Given the description of an element on the screen output the (x, y) to click on. 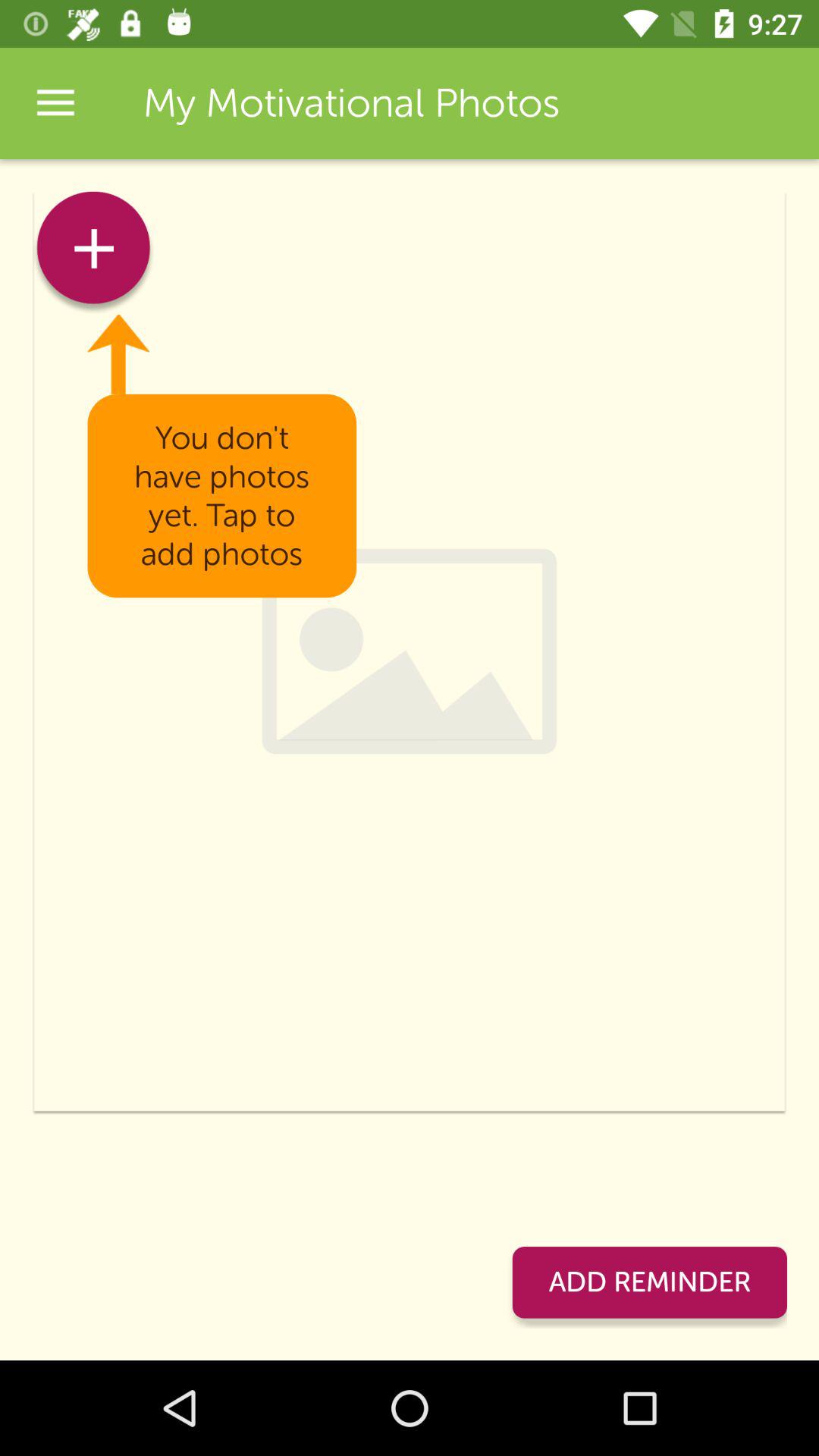
choose the icon at the bottom right corner (649, 1282)
